Given the description of an element on the screen output the (x, y) to click on. 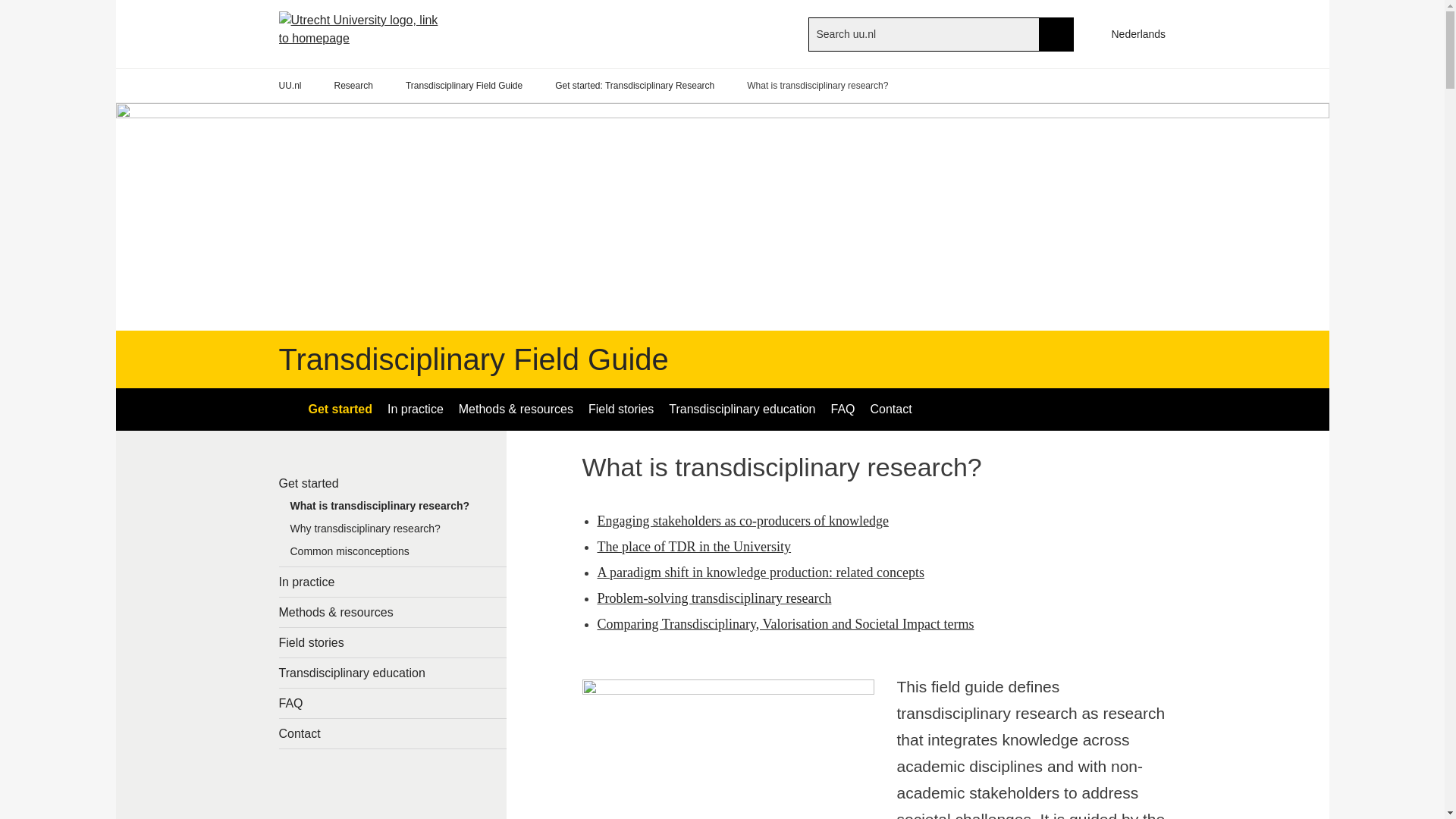
Nederlands (1131, 33)
Subnav example (392, 531)
Get started (392, 482)
UU.nl (290, 85)
Field stories (620, 409)
Skip to main content (7, 7)
Transdisciplinary education (741, 409)
Get started (338, 409)
